Given the description of an element on the screen output the (x, y) to click on. 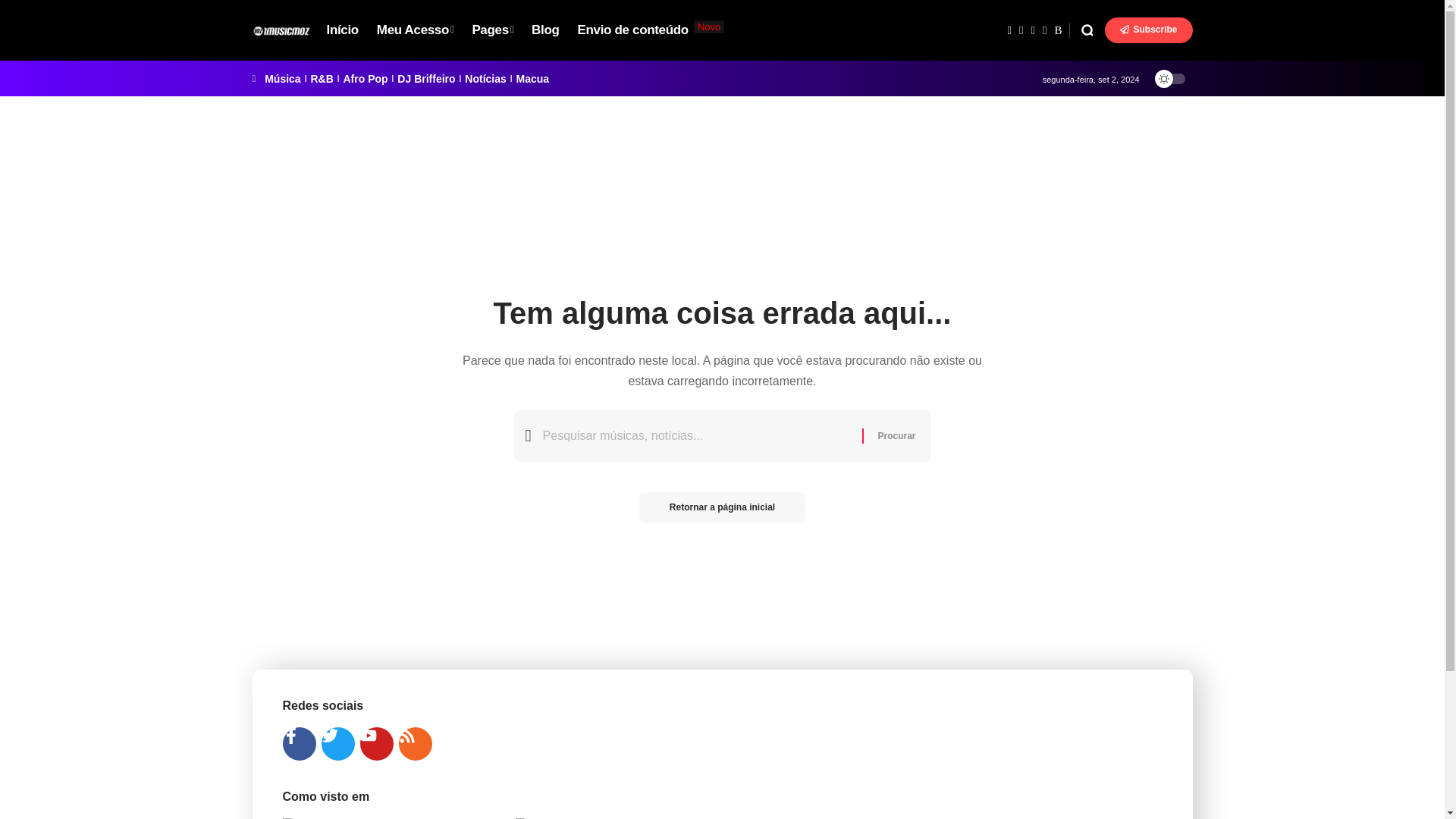
DJ Briffeiro (425, 78)
Pages (492, 30)
Afro Pop (364, 78)
Procurar (895, 435)
Macua (533, 78)
Blog (544, 30)
Subscribe (1148, 30)
Meu Acesso (415, 30)
